Given the description of an element on the screen output the (x, y) to click on. 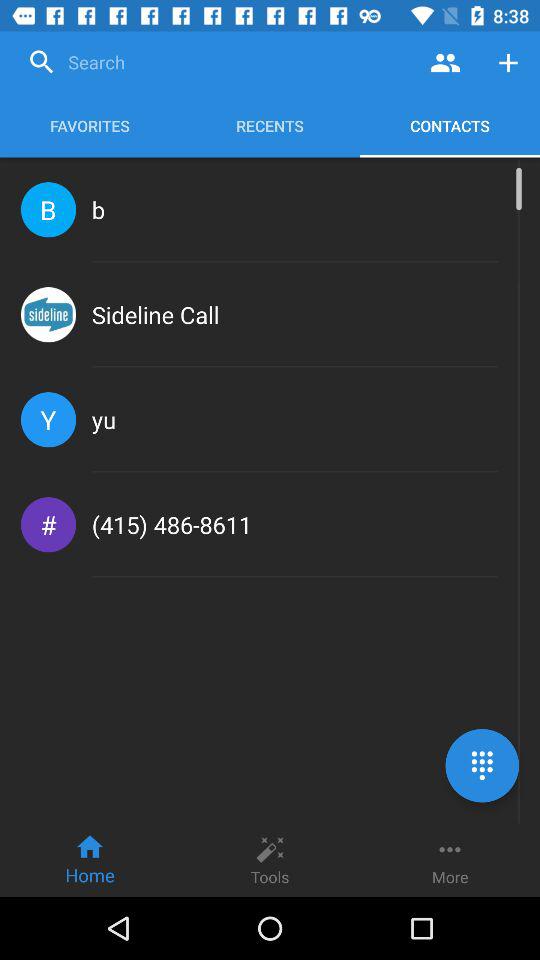
to search (217, 62)
